Given the description of an element on the screen output the (x, y) to click on. 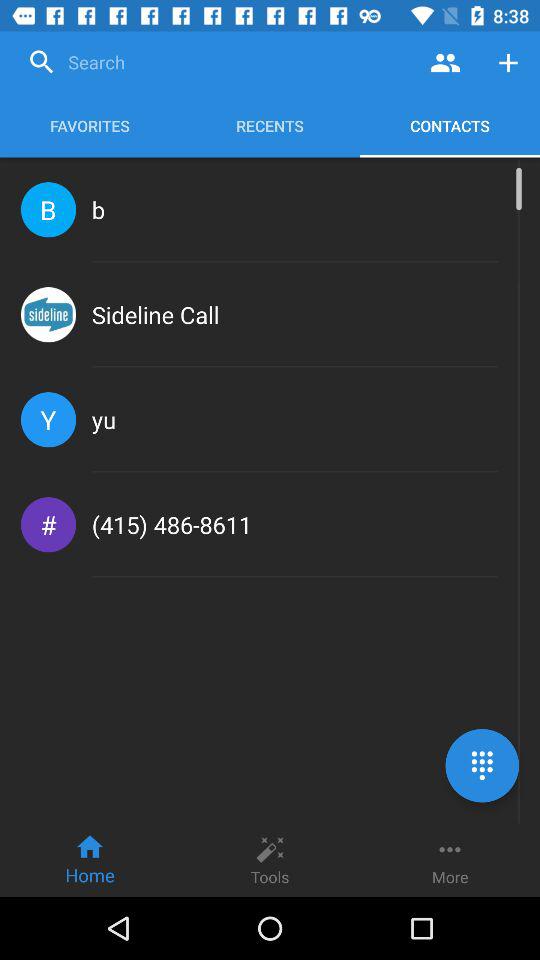
to search (217, 62)
